Given the description of an element on the screen output the (x, y) to click on. 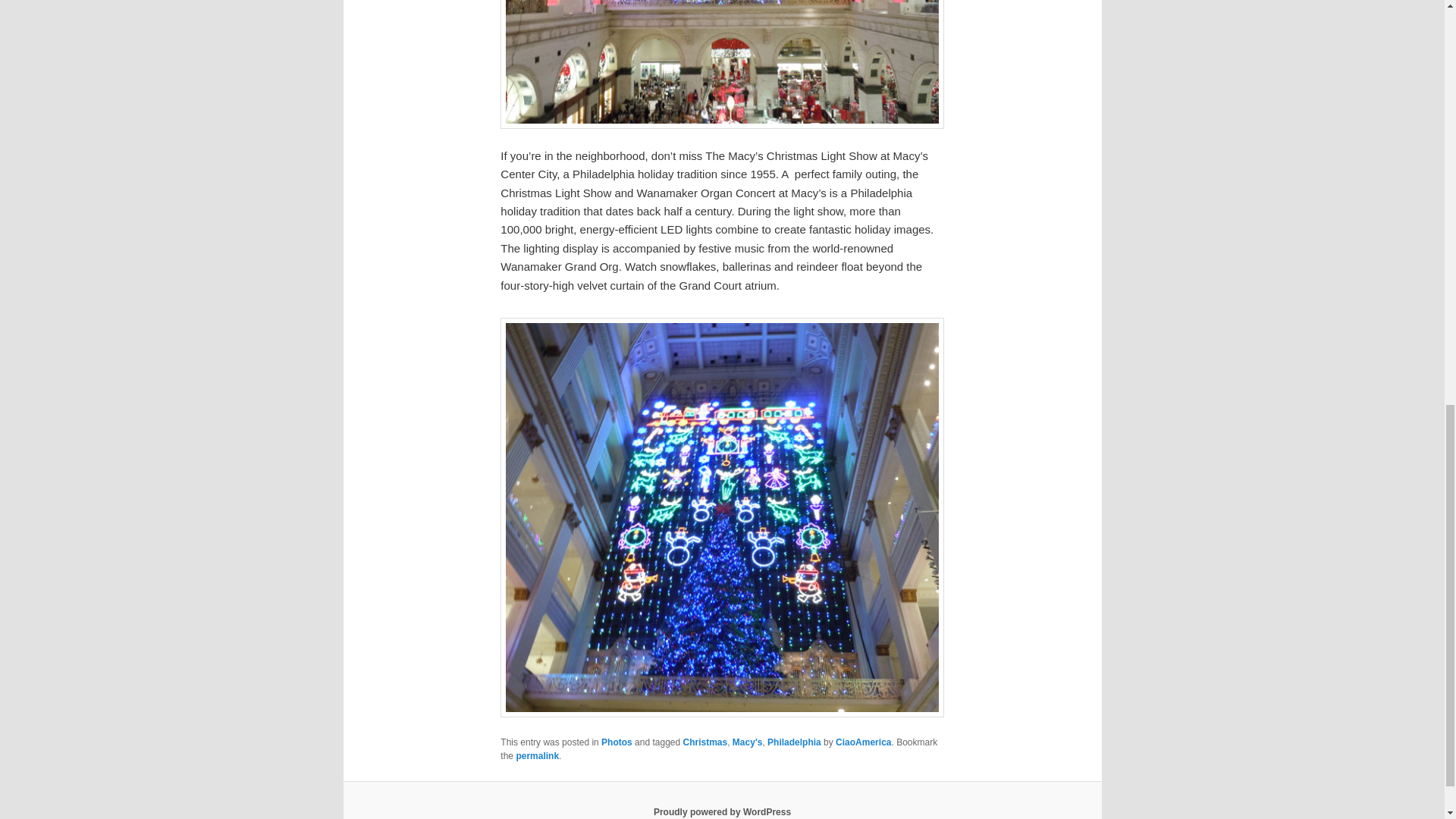
Christmas (704, 742)
macys-tree2 (721, 64)
Photos (616, 742)
Macy's (747, 742)
CiaoAmerica (863, 742)
permalink (537, 756)
Proudly powered by WordPress (721, 811)
Philadelphia (794, 742)
Semantic Personal Publishing Platform (721, 811)
